Given the description of an element on the screen output the (x, y) to click on. 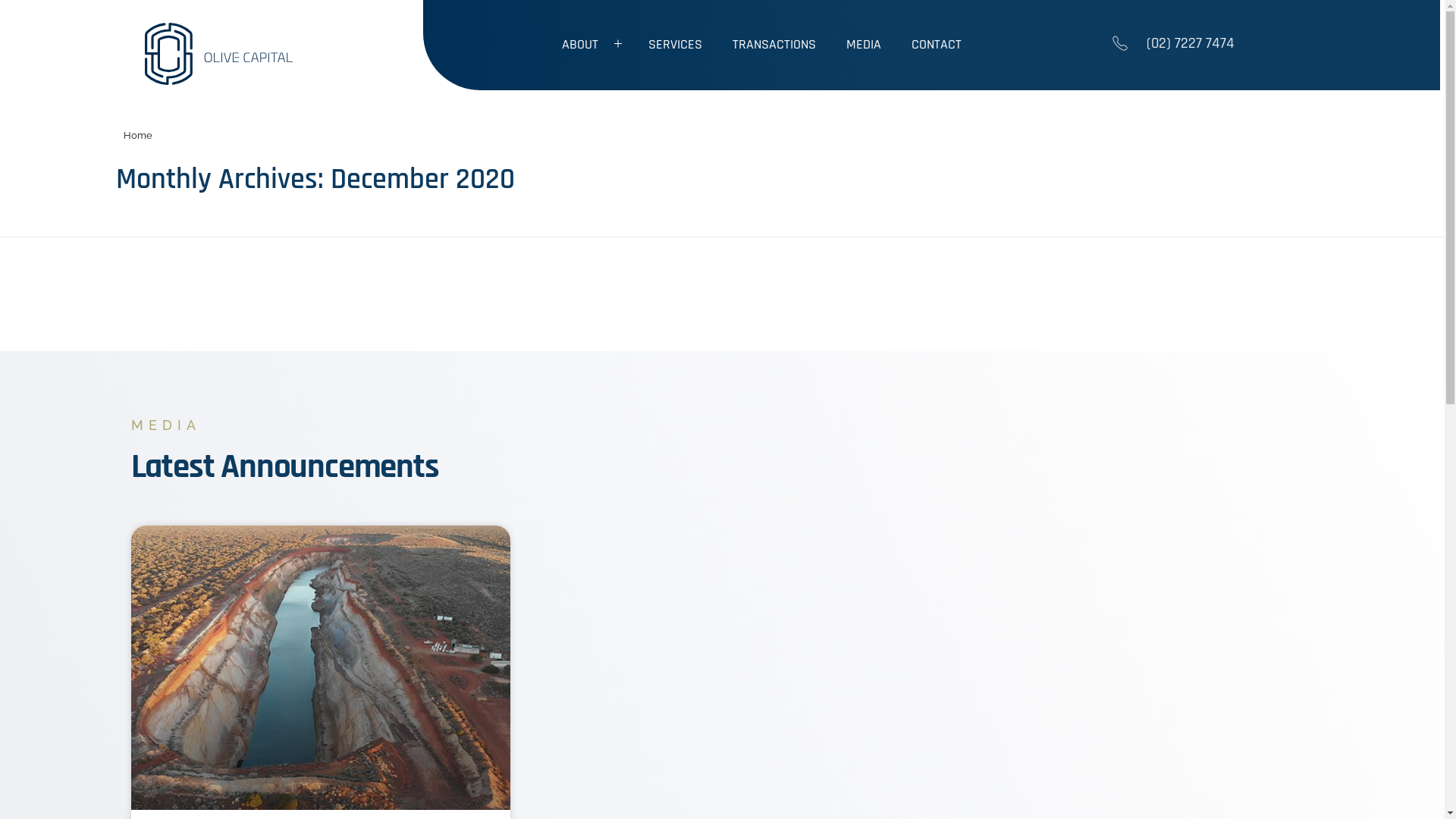
OLIVE CAPITAL Element type: hover (226, 53)
Home Element type: text (136, 135)
OLIVE CAPITAL Element type: text (209, 93)
